Given the description of an element on the screen output the (x, y) to click on. 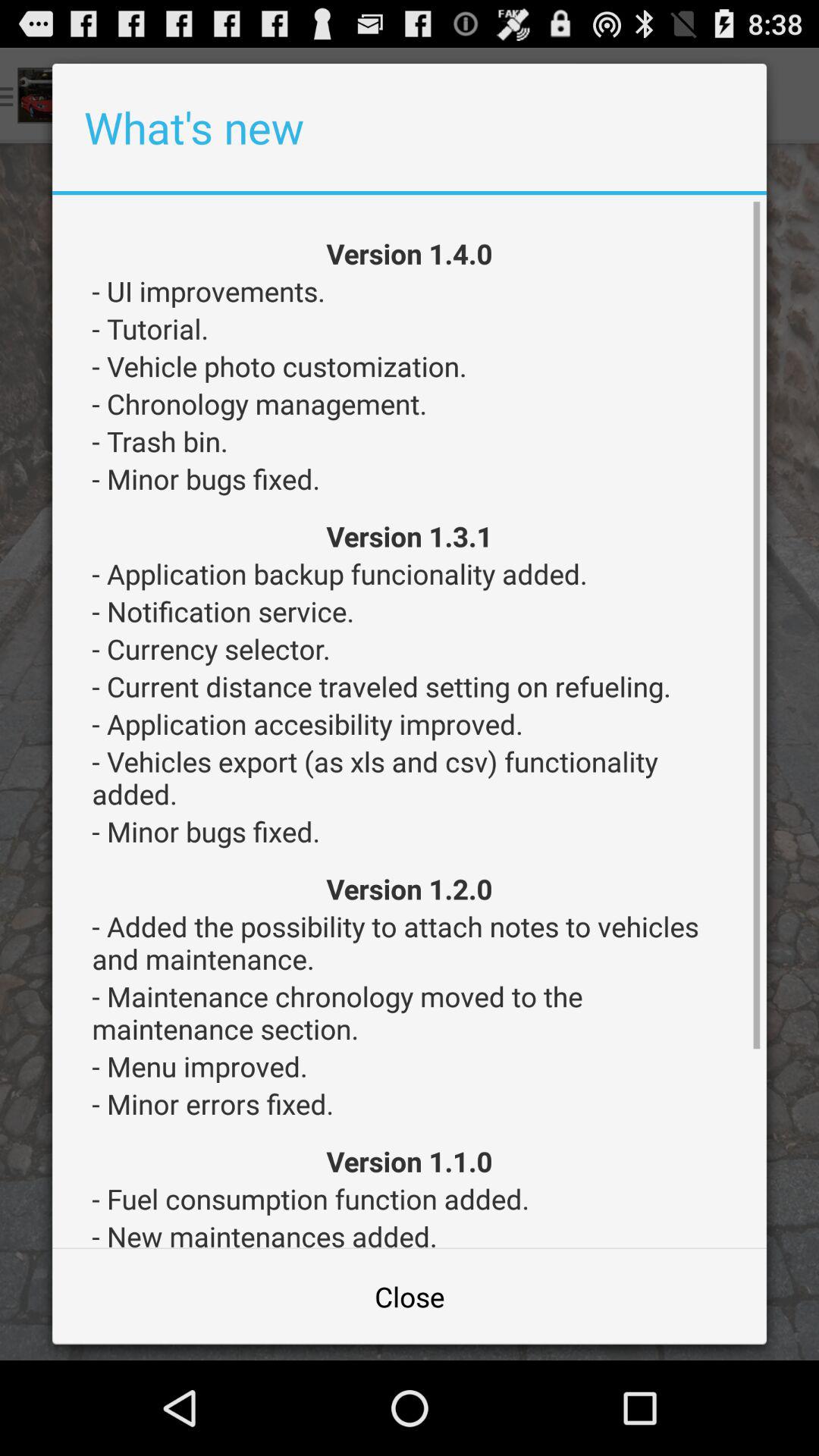
turn off close item (409, 1296)
